Given the description of an element on the screen output the (x, y) to click on. 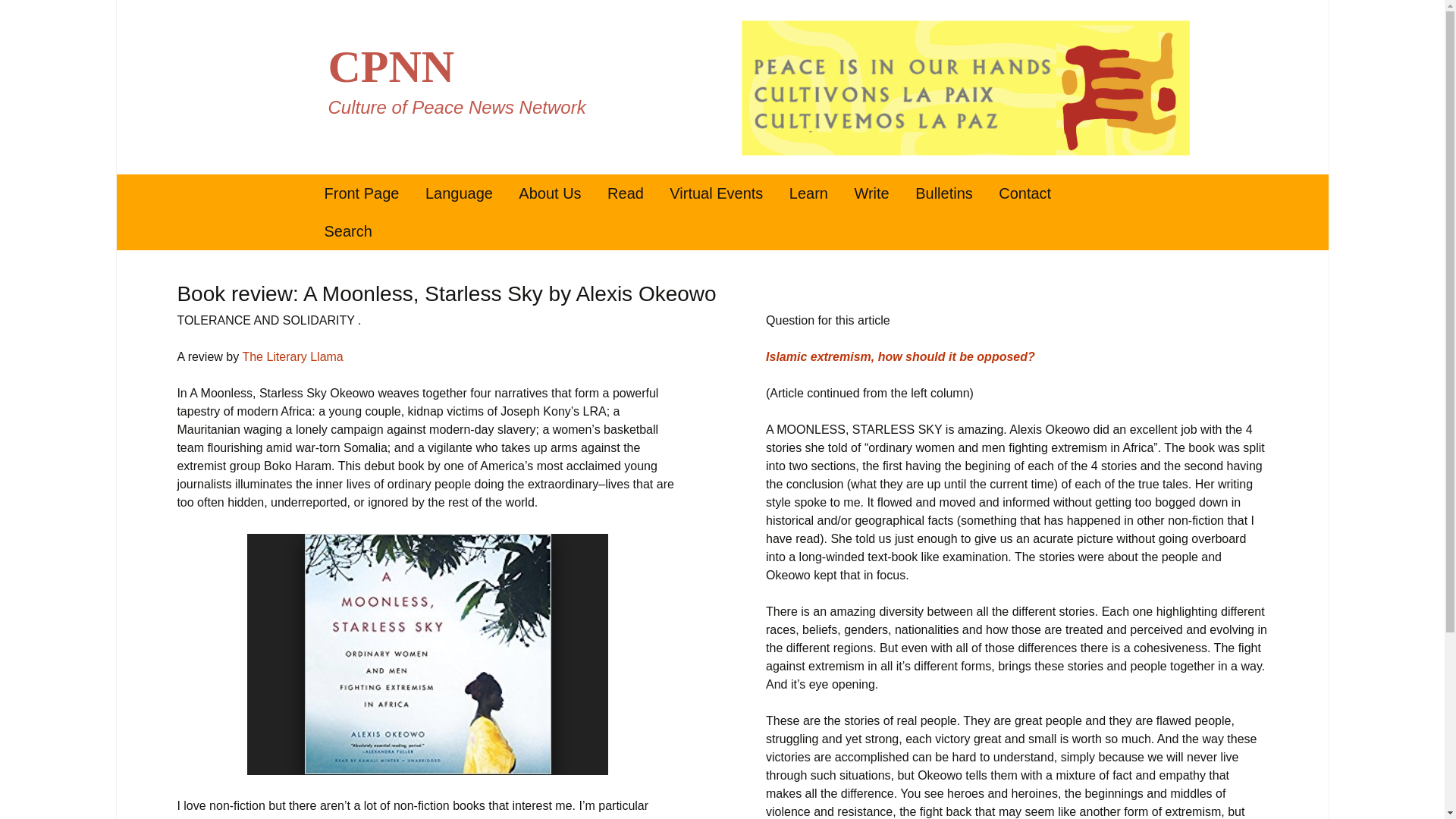
Bulletins (944, 193)
Read (625, 193)
The Literary Llama (291, 356)
Contact (1024, 193)
Islamic extremism, how should it be opposed? (900, 356)
Virtual Events (716, 193)
French (489, 231)
About Us (549, 193)
Language (458, 193)
